Given the description of an element on the screen output the (x, y) to click on. 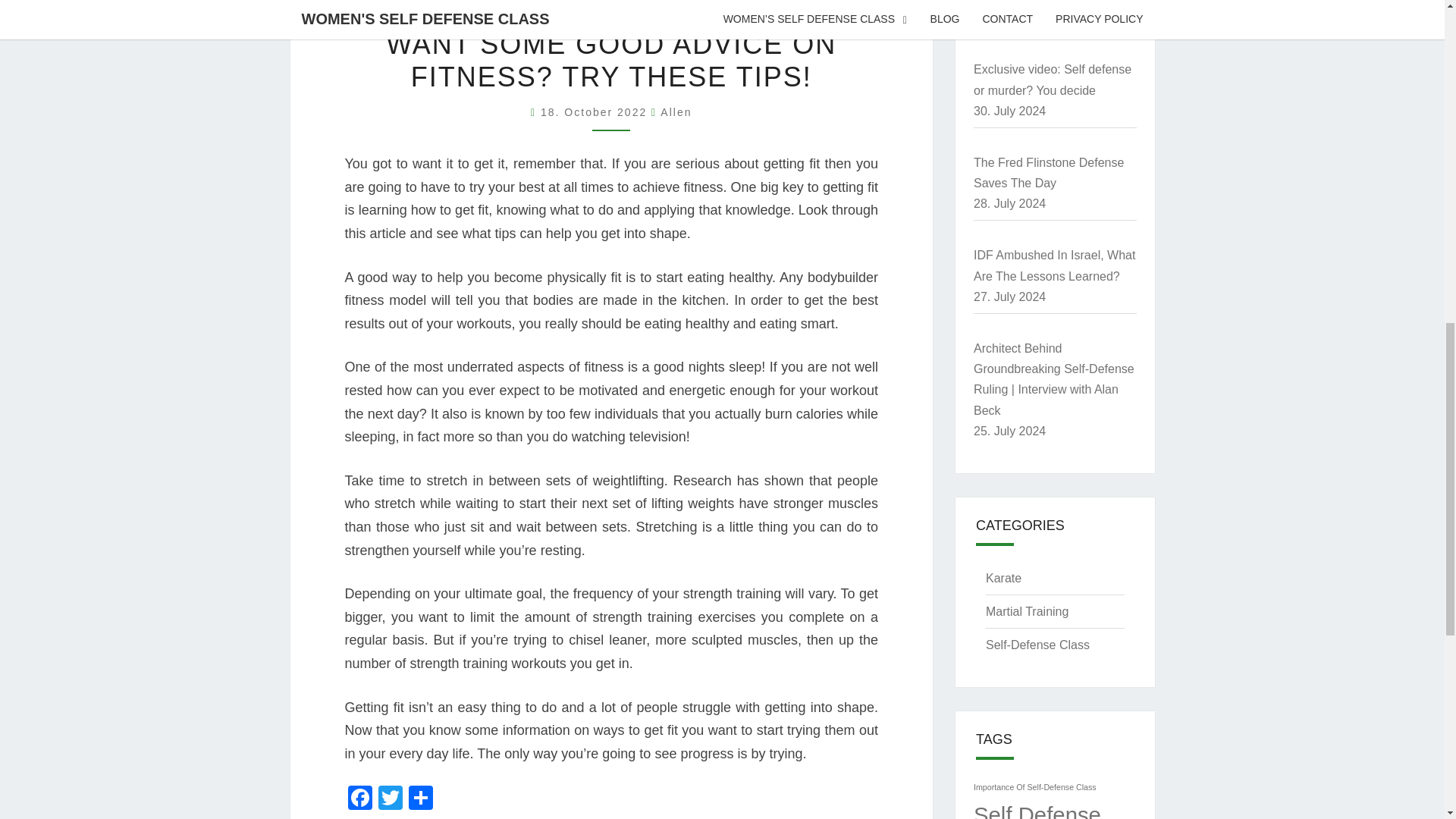
Allen (676, 111)
The Fred Flinstone Defense Saves The Day (1049, 172)
Injured Defender In Turkey Prevails (1045, 2)
IDF Ambushed In Israel, What Are The Lessons Learned? (1054, 264)
Twitter (389, 799)
Martial Training (1026, 611)
Karate (1003, 577)
Facebook (358, 799)
View all posts by allen (676, 111)
18. October 2022 (595, 111)
Importance Of Self-Defense Class (1035, 786)
Twitter (389, 799)
Facebook (358, 799)
Self Defense Class (1037, 810)
Exclusive video: Self defense or murder? You decide (1052, 79)
